Given the description of an element on the screen output the (x, y) to click on. 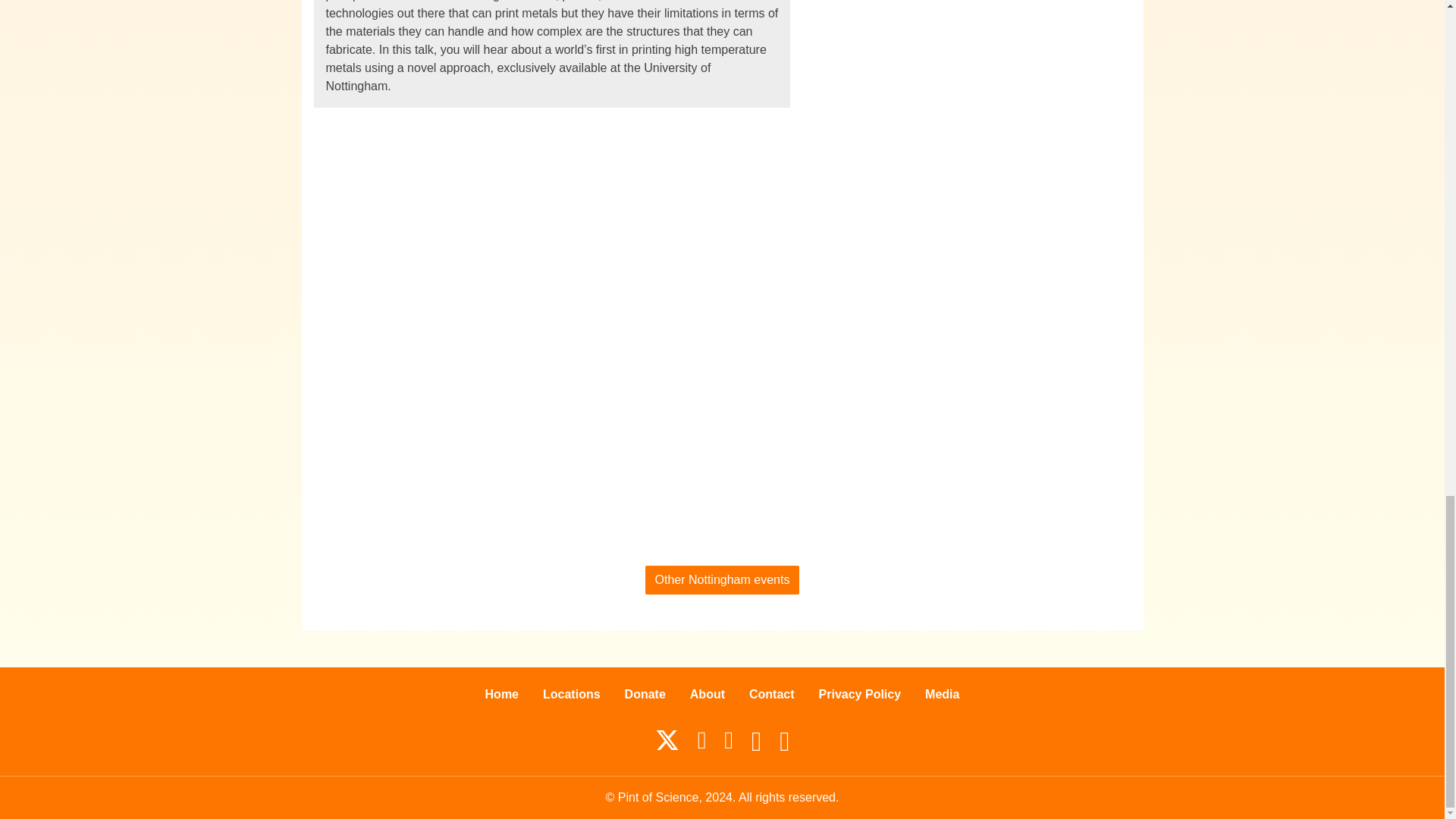
Locations (571, 694)
Media (941, 694)
Privacy Policy (860, 694)
Other Nottingham events (722, 579)
Donate (645, 694)
Home (502, 694)
About (707, 694)
Contact (771, 694)
